Given the description of an element on the screen output the (x, y) to click on. 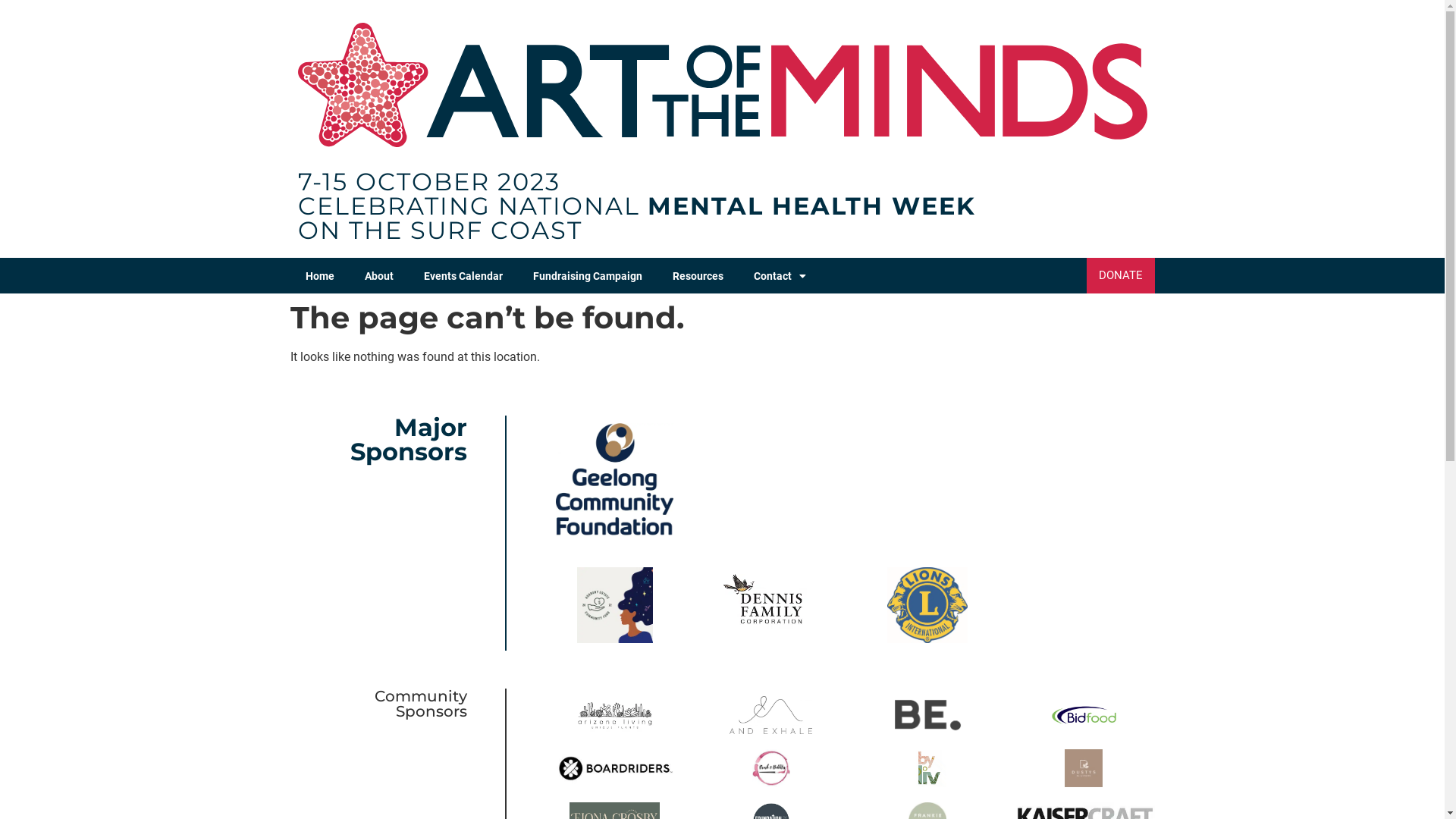
Resources Element type: text (696, 275)
About Element type: text (377, 275)
Events Calendar Element type: text (462, 275)
DONATE Element type: text (1119, 275)
Contact Element type: text (779, 275)
Home Element type: text (318, 275)
Fundraising Campaign Element type: text (586, 275)
